Given the description of an element on the screen output the (x, y) to click on. 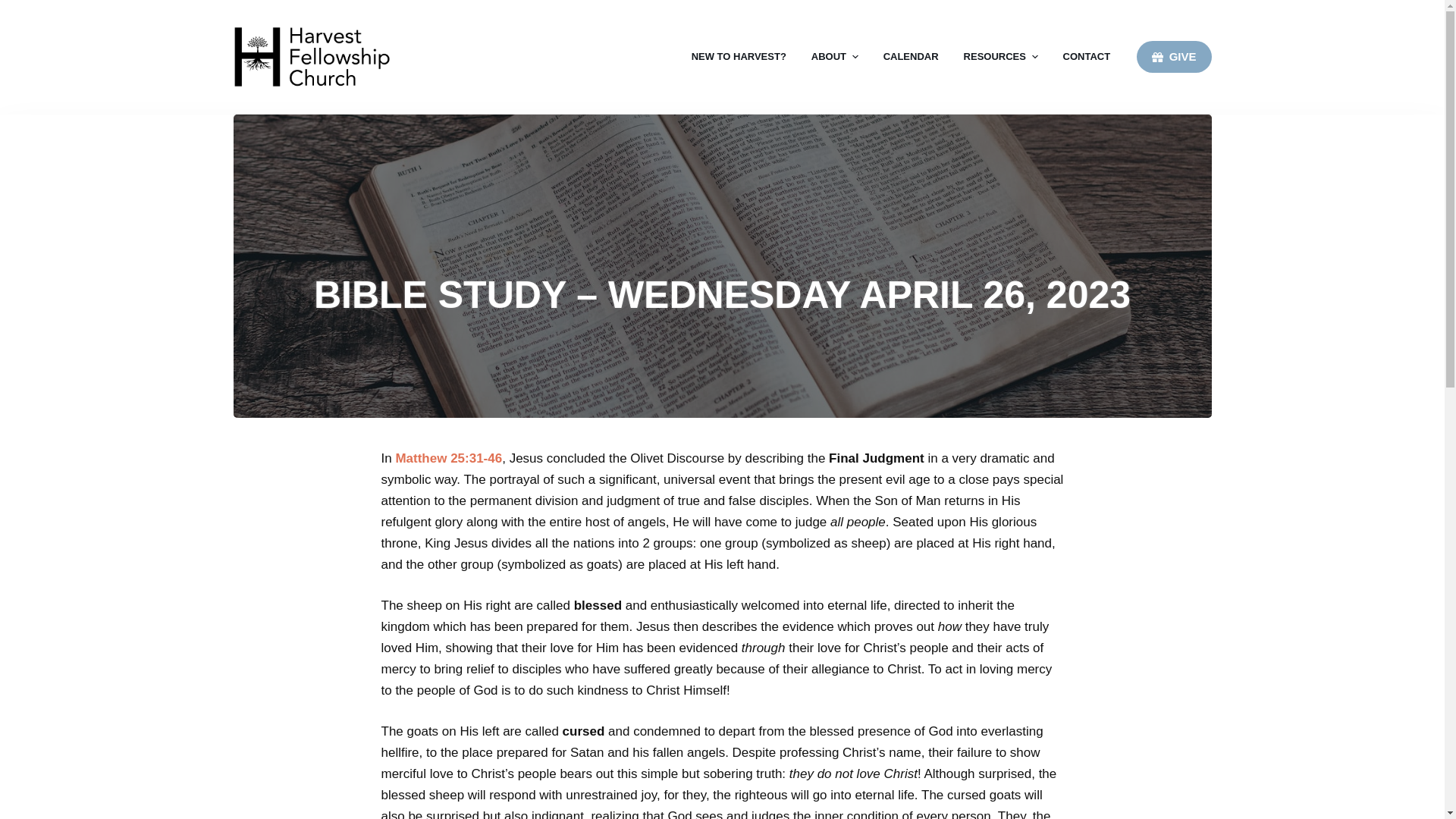
GIVE (1174, 56)
Skip to content (15, 7)
Matthew 25:31-46 (448, 458)
NEW TO HARVEST? (745, 56)
